Given the description of an element on the screen output the (x, y) to click on. 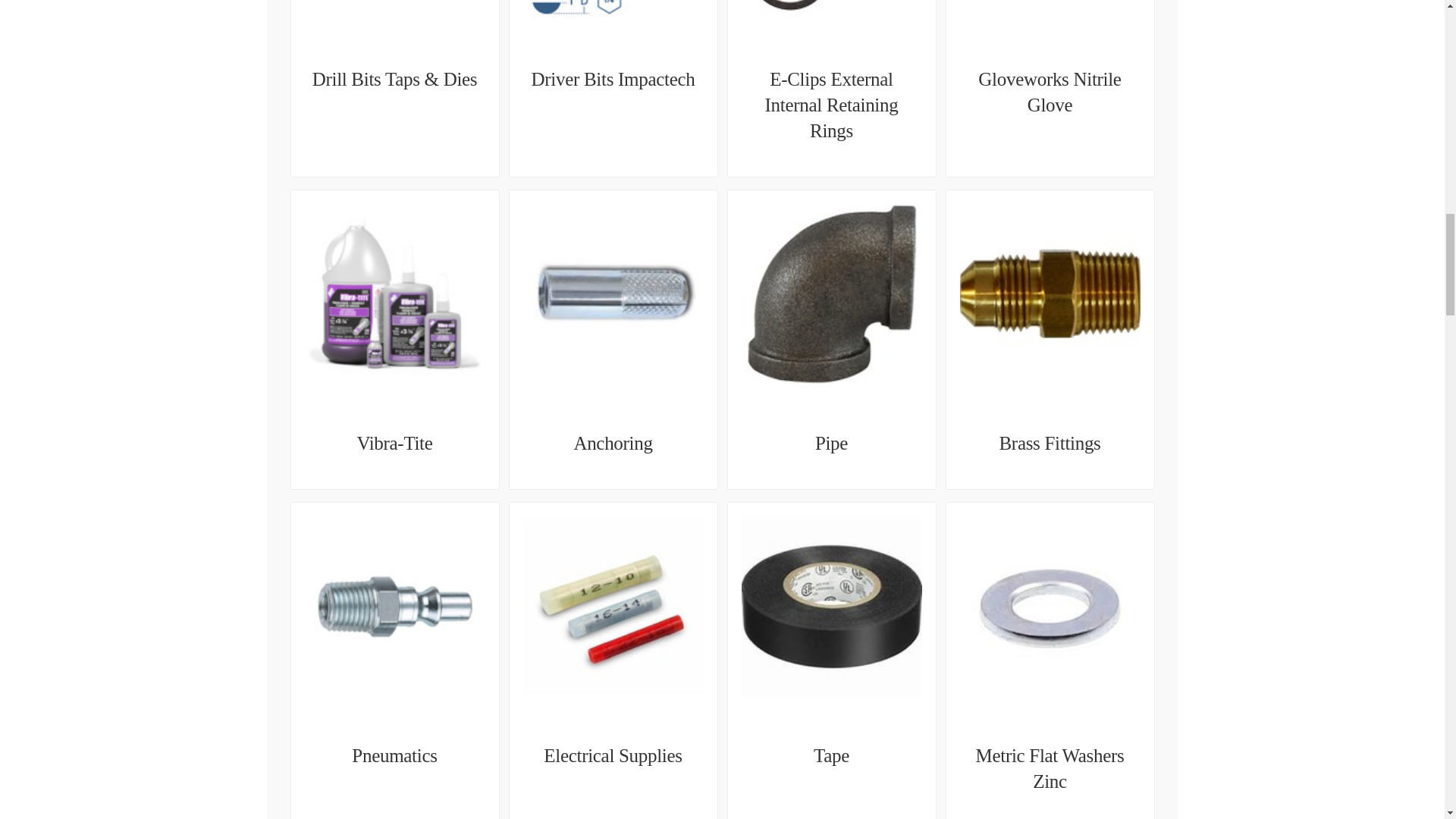
Driver Bits Impactech (612, 79)
